Given the description of an element on the screen output the (x, y) to click on. 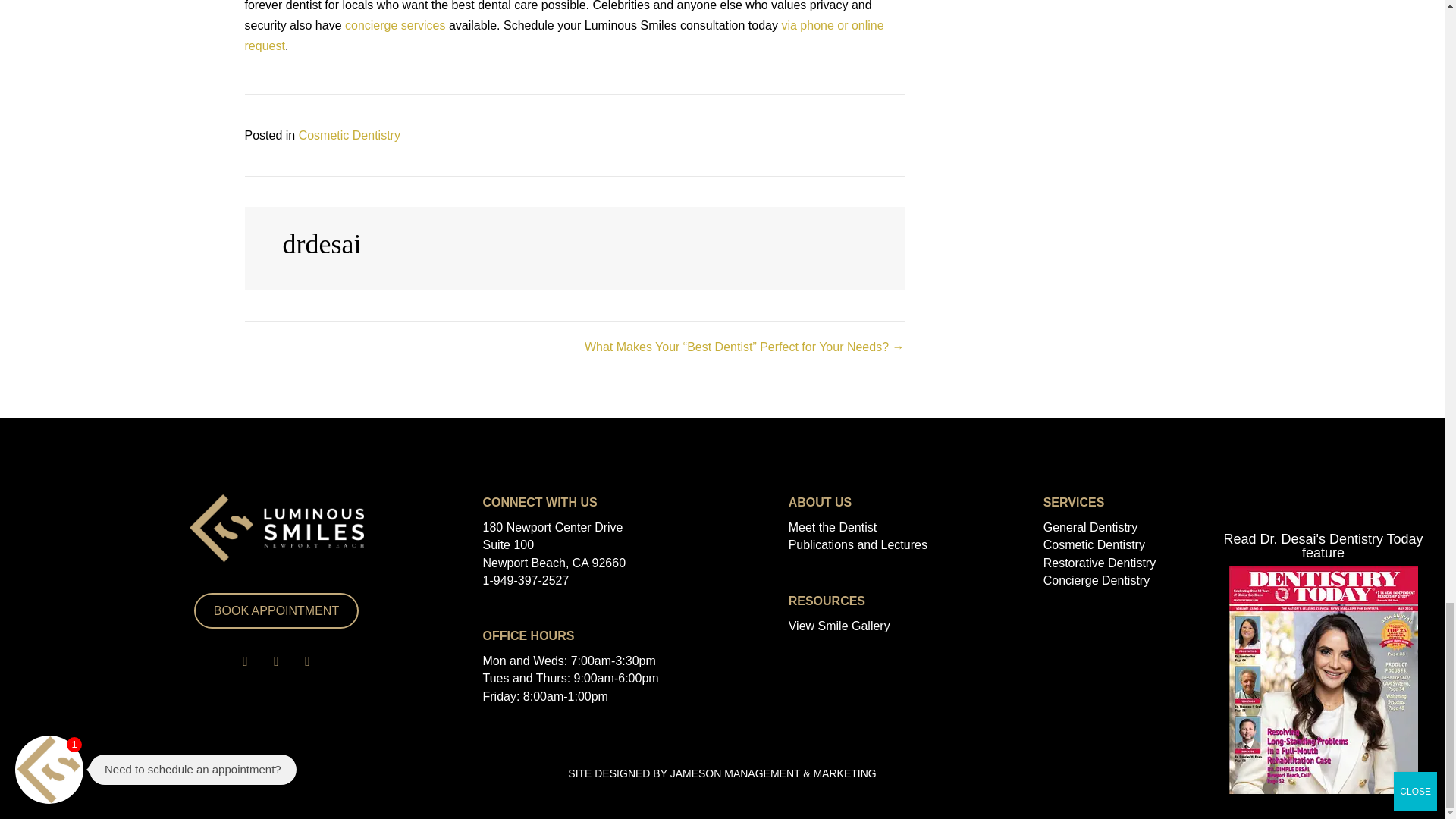
luminous-logo-footer (276, 527)
Cosmetic Dentistry (349, 134)
via phone or online request (563, 35)
concierge services (395, 24)
